Given the description of an element on the screen output the (x, y) to click on. 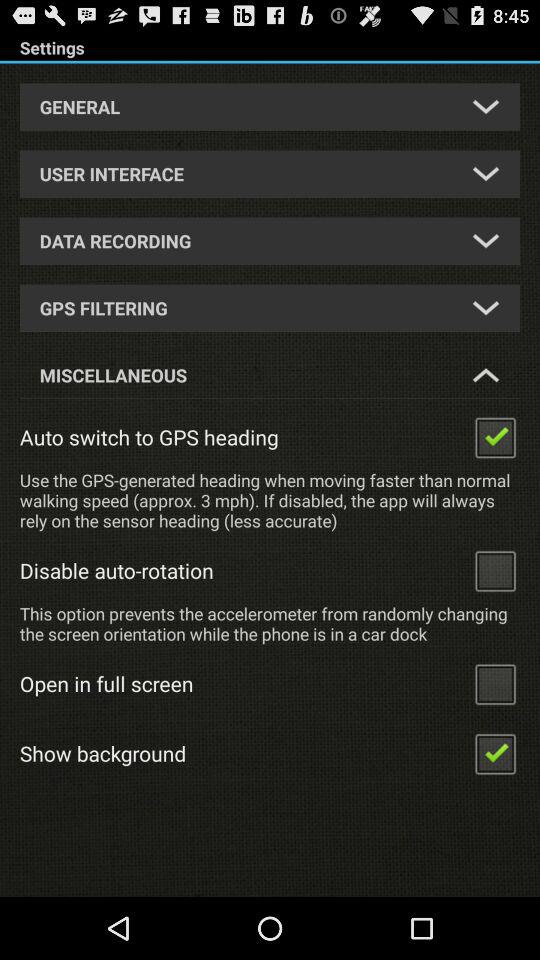
toggle show background option (495, 752)
